Given the description of an element on the screen output the (x, y) to click on. 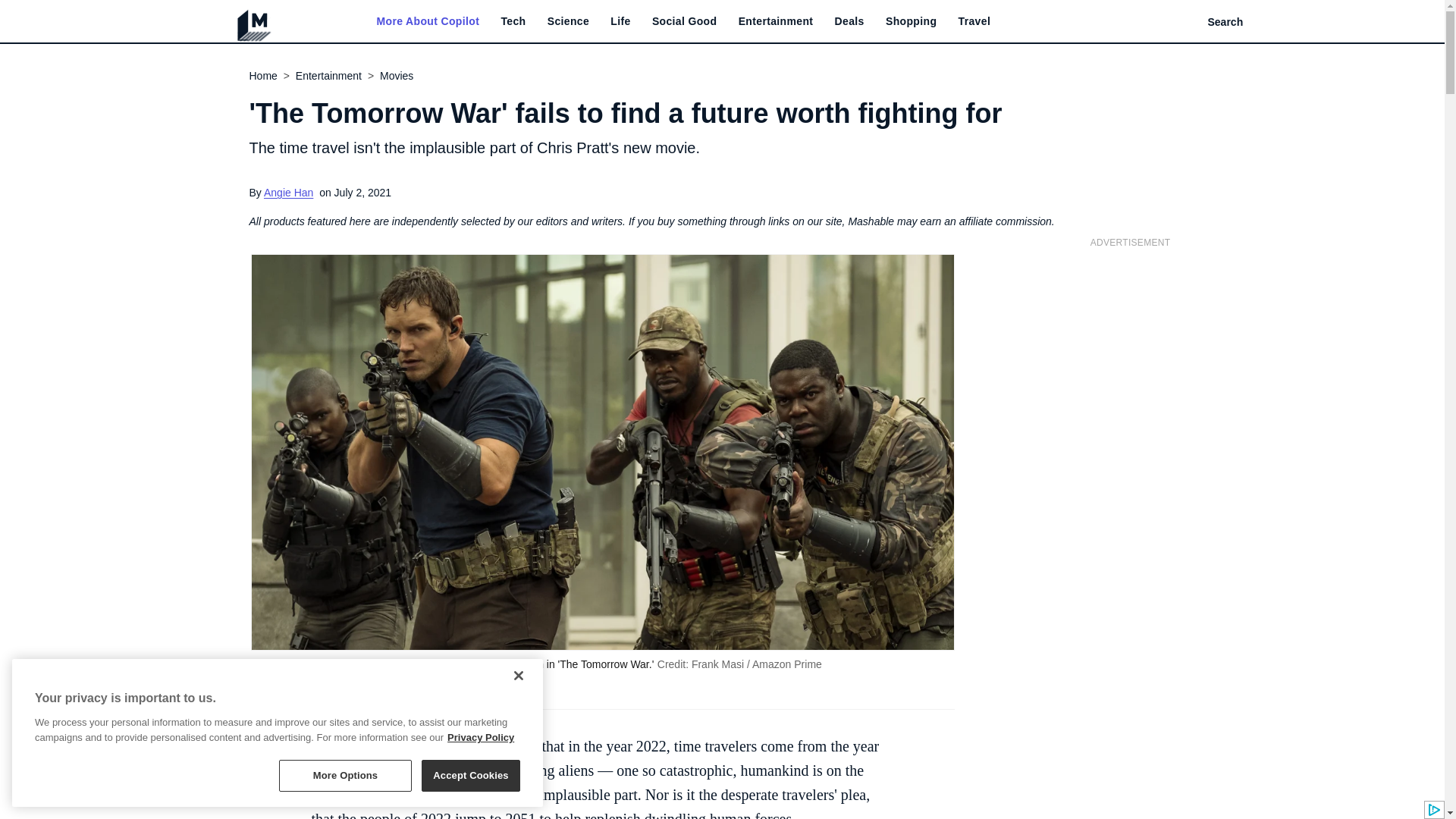
Entertainment (775, 21)
Shopping (910, 21)
Social Good (684, 21)
Science (568, 21)
More About Copilot (427, 21)
Life (620, 21)
Travel (974, 21)
Tech (512, 21)
Deals (849, 21)
